Given the description of an element on the screen output the (x, y) to click on. 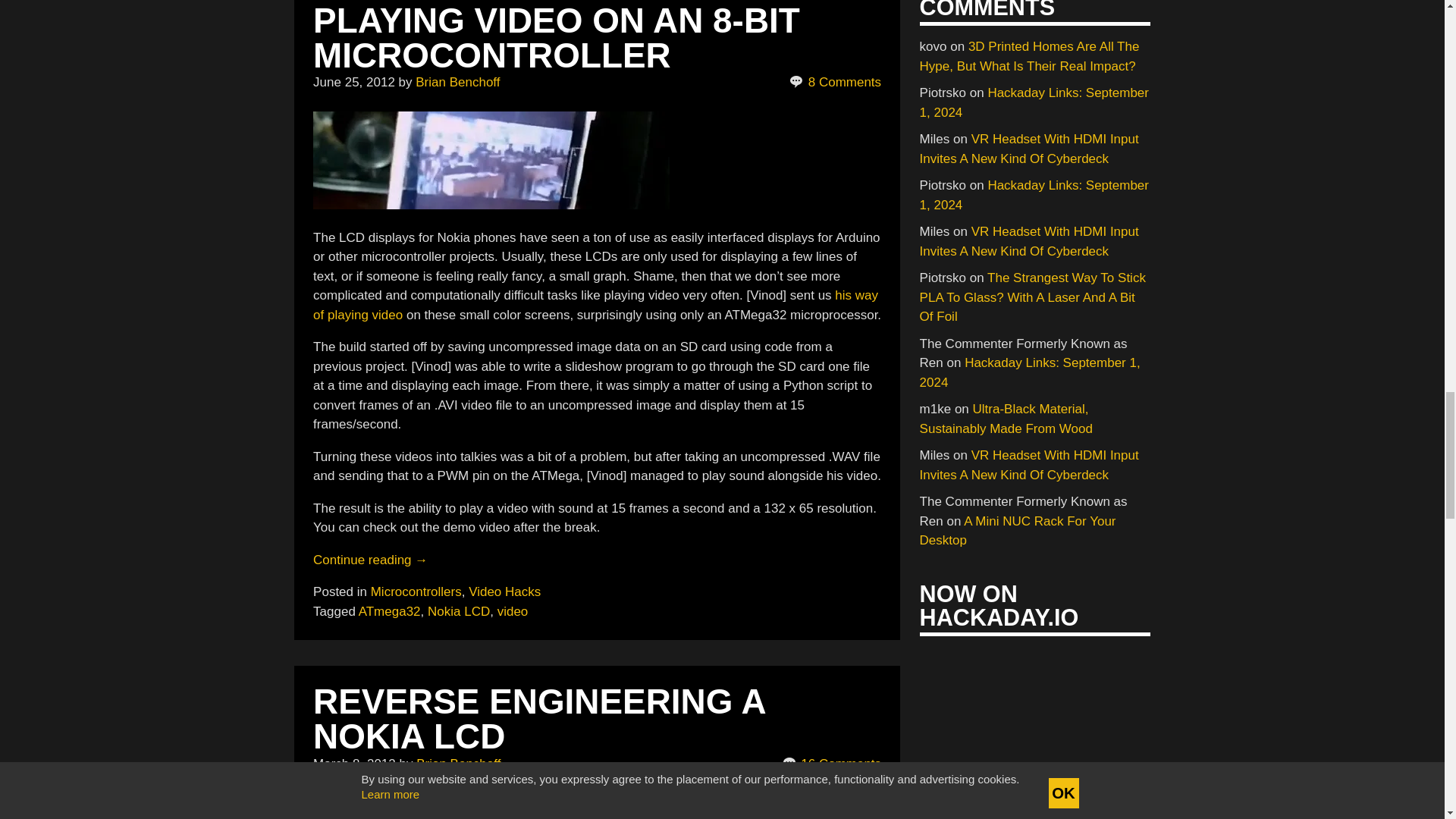
Posts by Brian Benchoff (458, 763)
June 25, 2012 - 8:01 am (353, 82)
Posts by Brian Benchoff (456, 82)
video (491, 160)
display (491, 806)
March 8, 2012 - 9:01 am (354, 763)
